Given the description of an element on the screen output the (x, y) to click on. 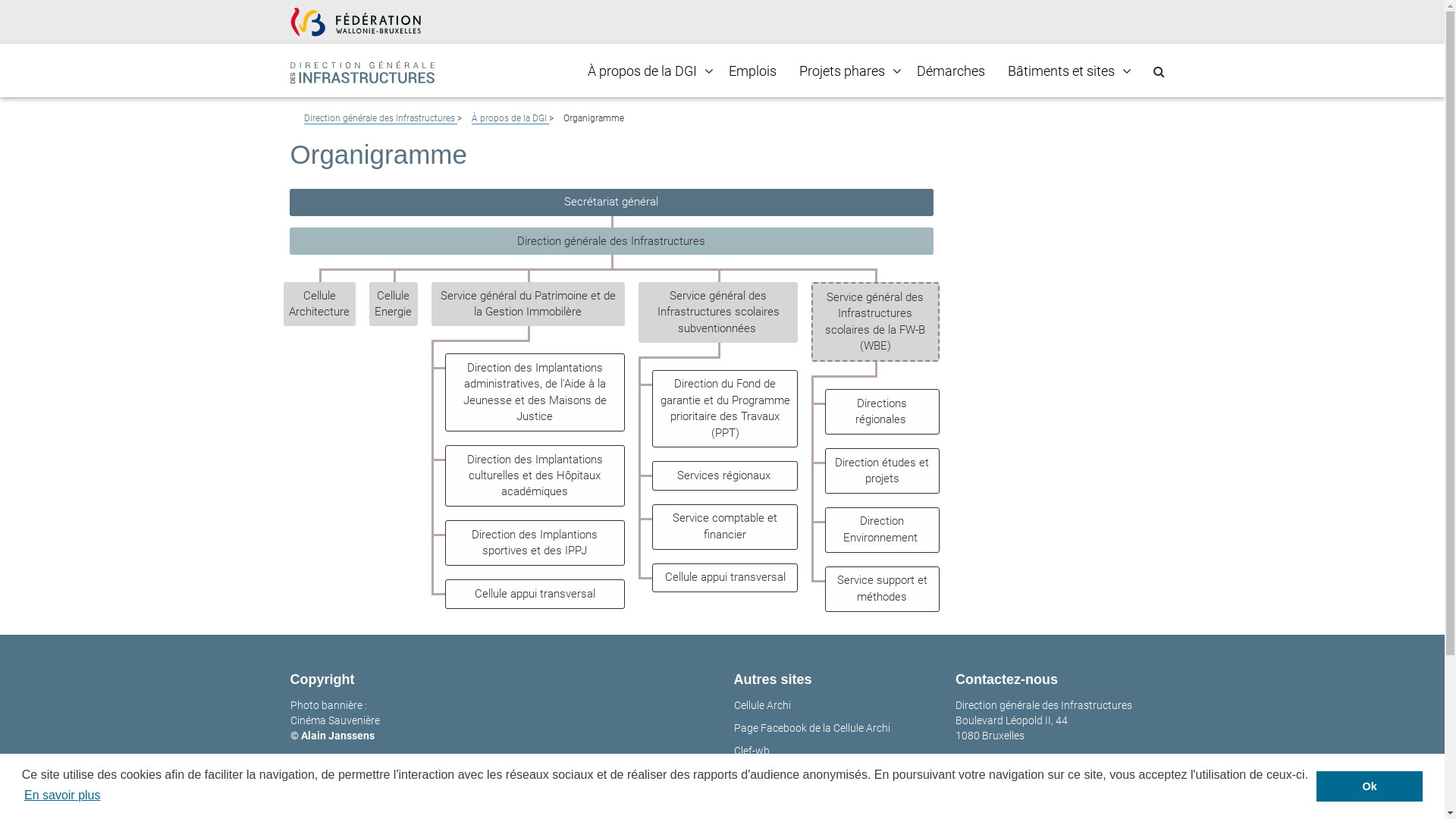
En savoir plus Element type: text (62, 795)
Rechercher sur le site Element type: text (1158, 71)
DGI Element type: text (361, 69)
Projets phares Element type: text (841, 71)
Ok Element type: text (1369, 786)
info.dgi(at)cfwb.be Element type: text (999, 765)
Emplois Element type: text (752, 71)
Recherche Element type: text (5, 11)
